Given the description of an element on the screen output the (x, y) to click on. 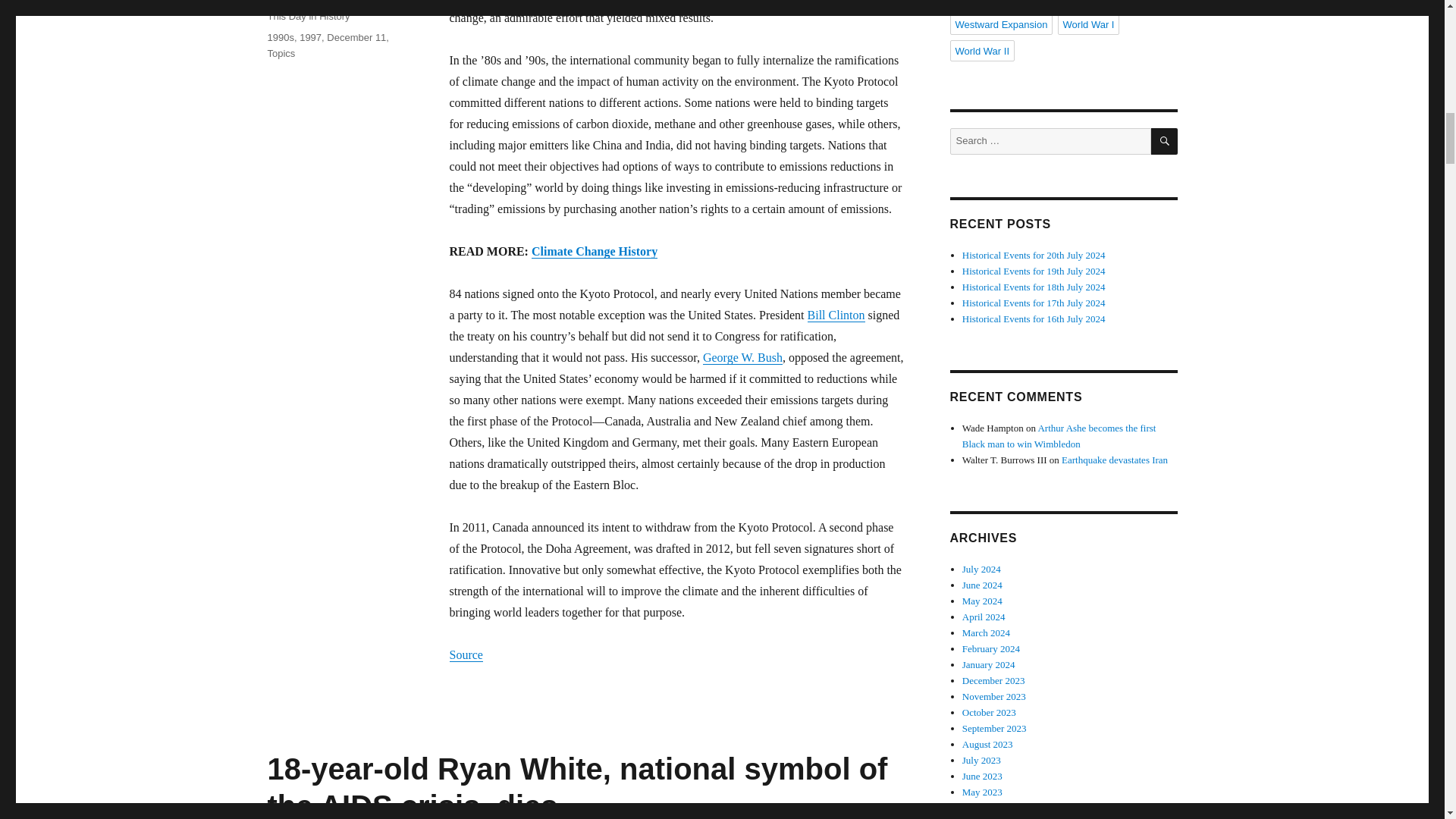
Bill Clinton (836, 314)
1997 (310, 37)
1990s (280, 37)
George W. Bush (743, 357)
April 7, 2020 (293, 0)
Source (464, 654)
December 11 (355, 37)
Topics (280, 52)
Climate Change History (594, 250)
This Day in History (307, 16)
